Given the description of an element on the screen output the (x, y) to click on. 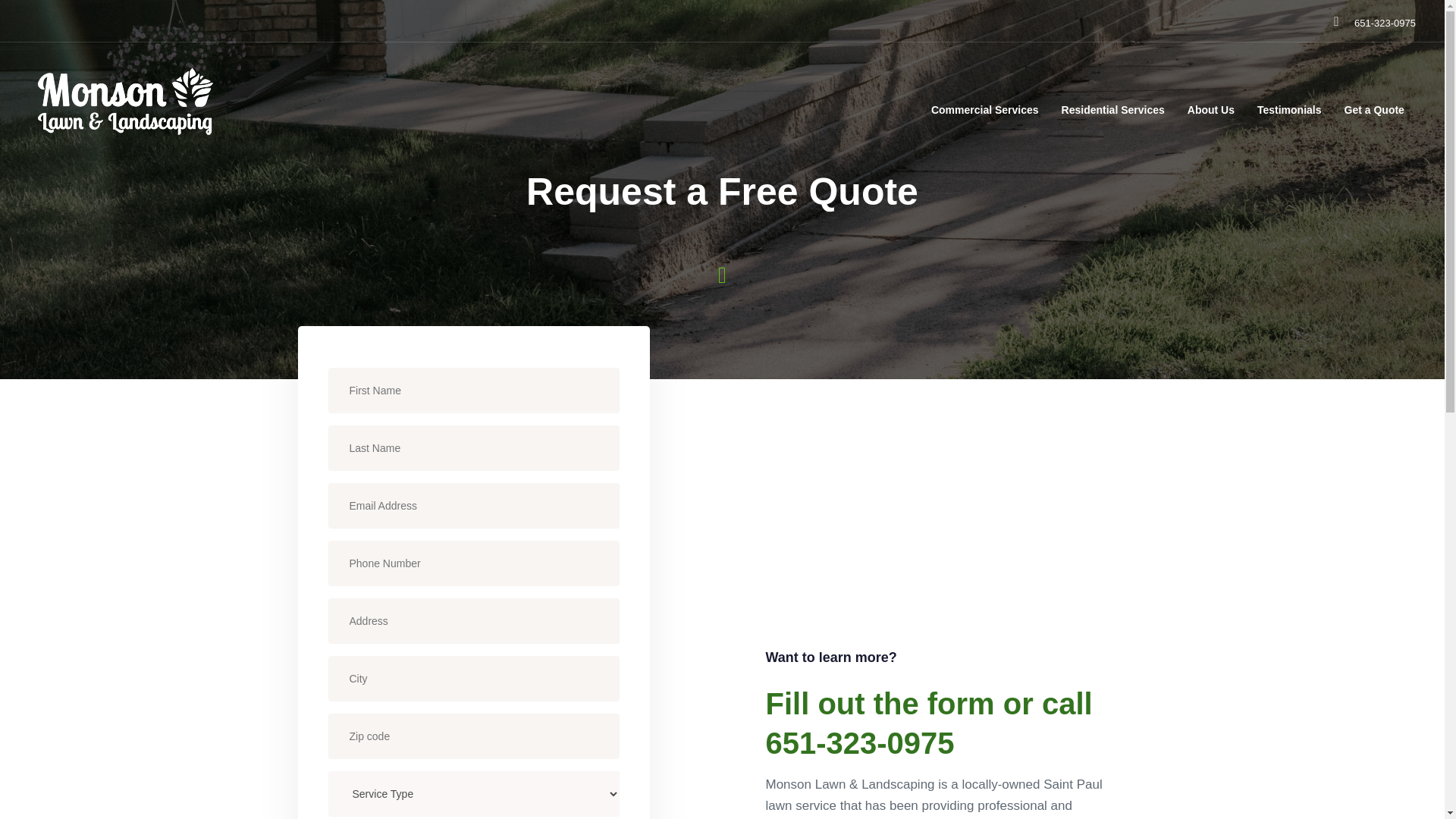
Testimonials (1289, 102)
651-323-0975 (1384, 22)
About Us (1211, 102)
Get a Quote (1374, 102)
Residential Services (1112, 102)
Commercial Services (984, 102)
